Given the description of an element on the screen output the (x, y) to click on. 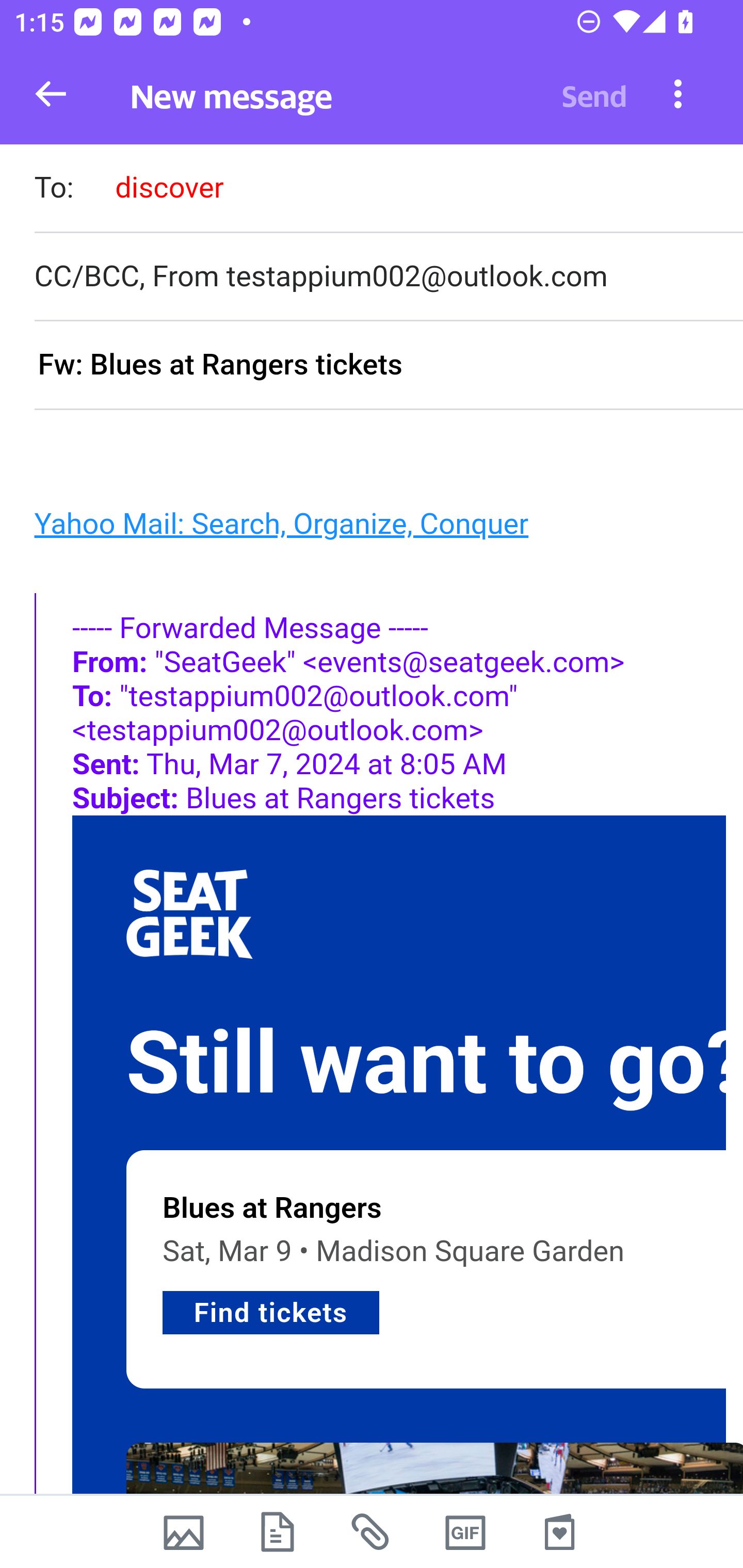
Back (50, 93)
Send (594, 93)
More options (677, 93)
To: discover (387, 189)
discover (169, 187)
CC/BCC, From testappium002@outlook.com (387, 276)
Fw: Blues at Rangers tickets (387, 365)
Yahoo Mail: Search, Organize, Conquer (280, 522)
Still want to go? (434, 1063)
Blues at Rangers (272, 1208)
Find tickets (271, 1312)
Camera photos (183, 1531)
Device files (277, 1531)
Recent attachments from mail (371, 1531)
GIFs (465, 1531)
Stationery (559, 1531)
